Given the description of an element on the screen output the (x, y) to click on. 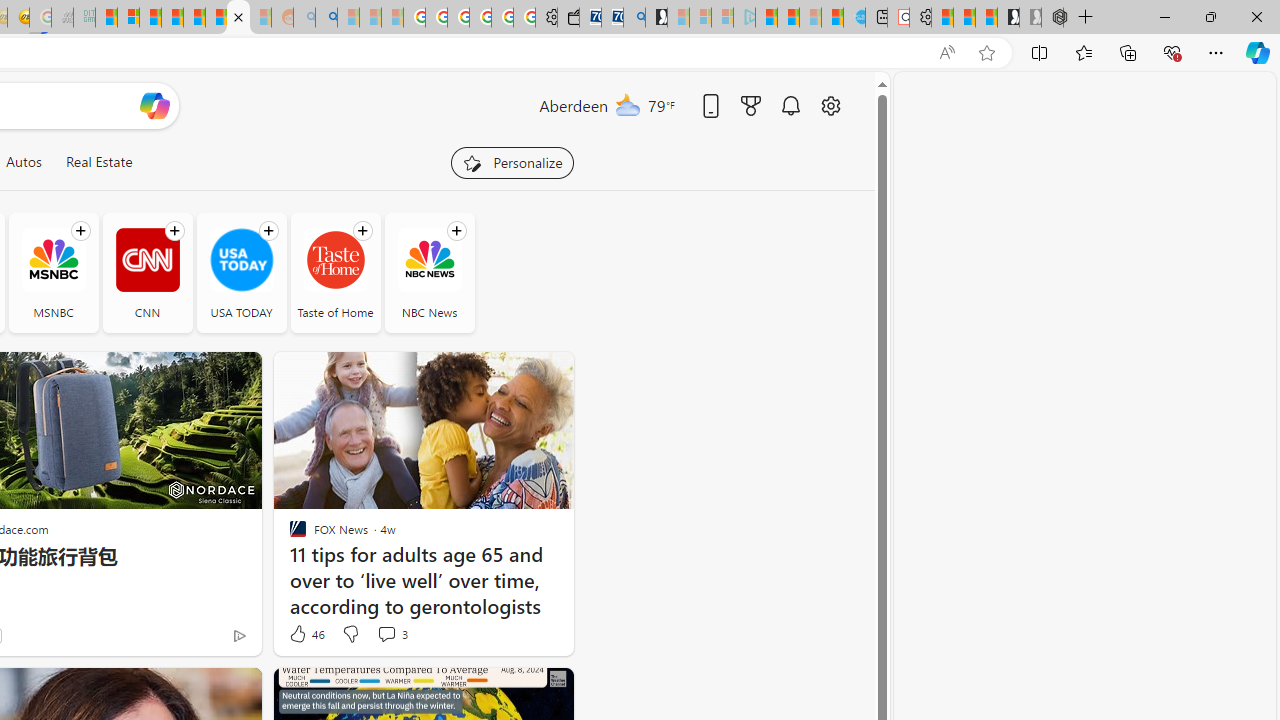
46 Like (305, 633)
Real Estate (98, 162)
Wallet (568, 17)
USA TODAY (240, 260)
